Given the description of an element on the screen output the (x, y) to click on. 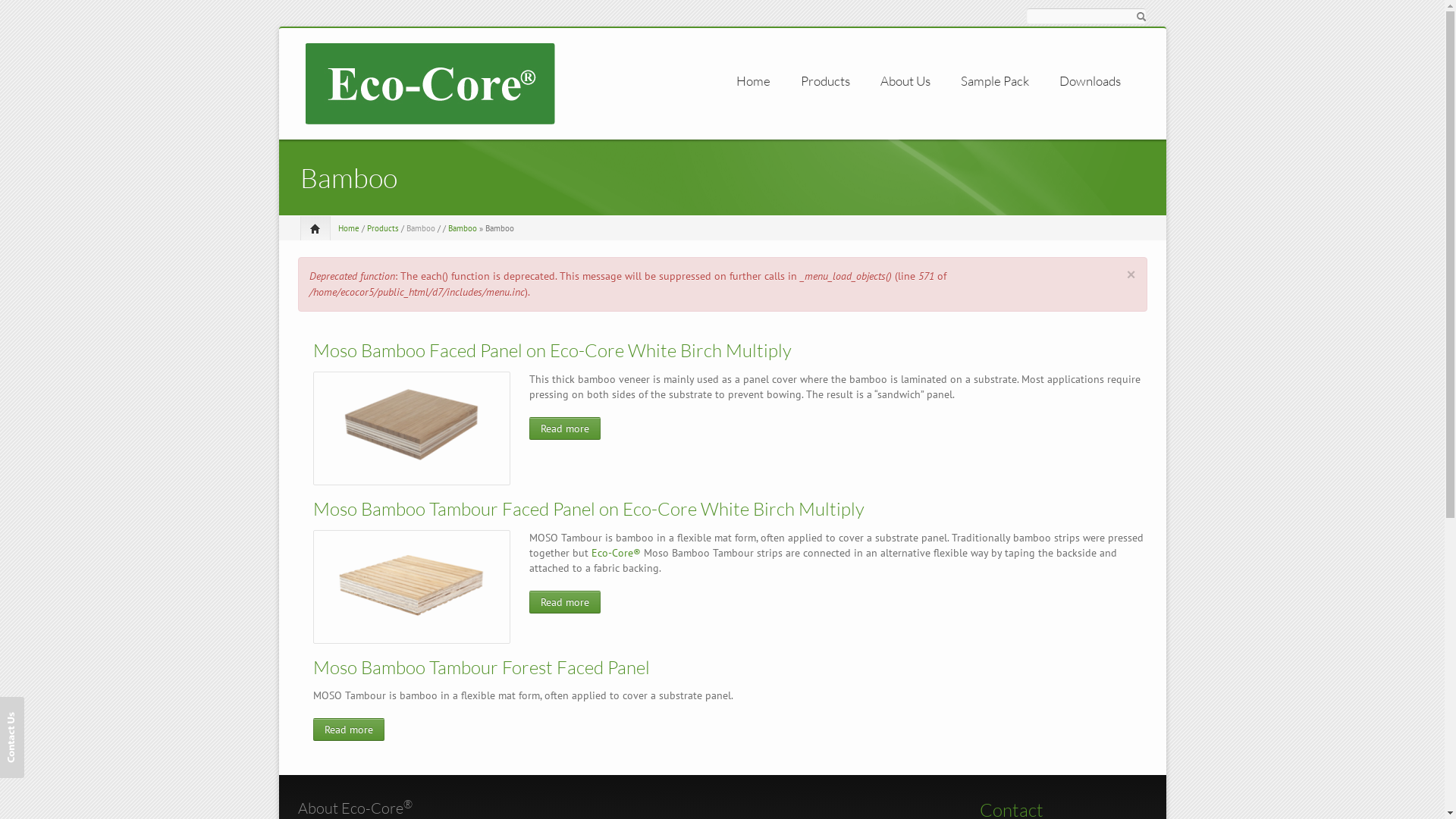
Products Element type: text (382, 227)
Read more Element type: text (564, 601)
Bamboo Element type: text (461, 227)
Home Element type: hover (429, 82)
Read more Element type: text (564, 428)
Sample Pack Element type: text (994, 80)
Read more Element type: text (347, 729)
Enter the terms you wish to search for. Element type: hover (1085, 15)
Home Element type: text (348, 227)
Downloads Element type: text (1089, 80)
Moso Bamboo Faced Panel on Eco-Core White Birch Multiply Element type: text (551, 349)
About Us Element type: text (904, 80)
Home Element type: text (752, 80)
Moso Bamboo Tambour Forest Faced Panel Element type: text (480, 666)
Bamboo Element type: text (420, 227)
